Given the description of an element on the screen output the (x, y) to click on. 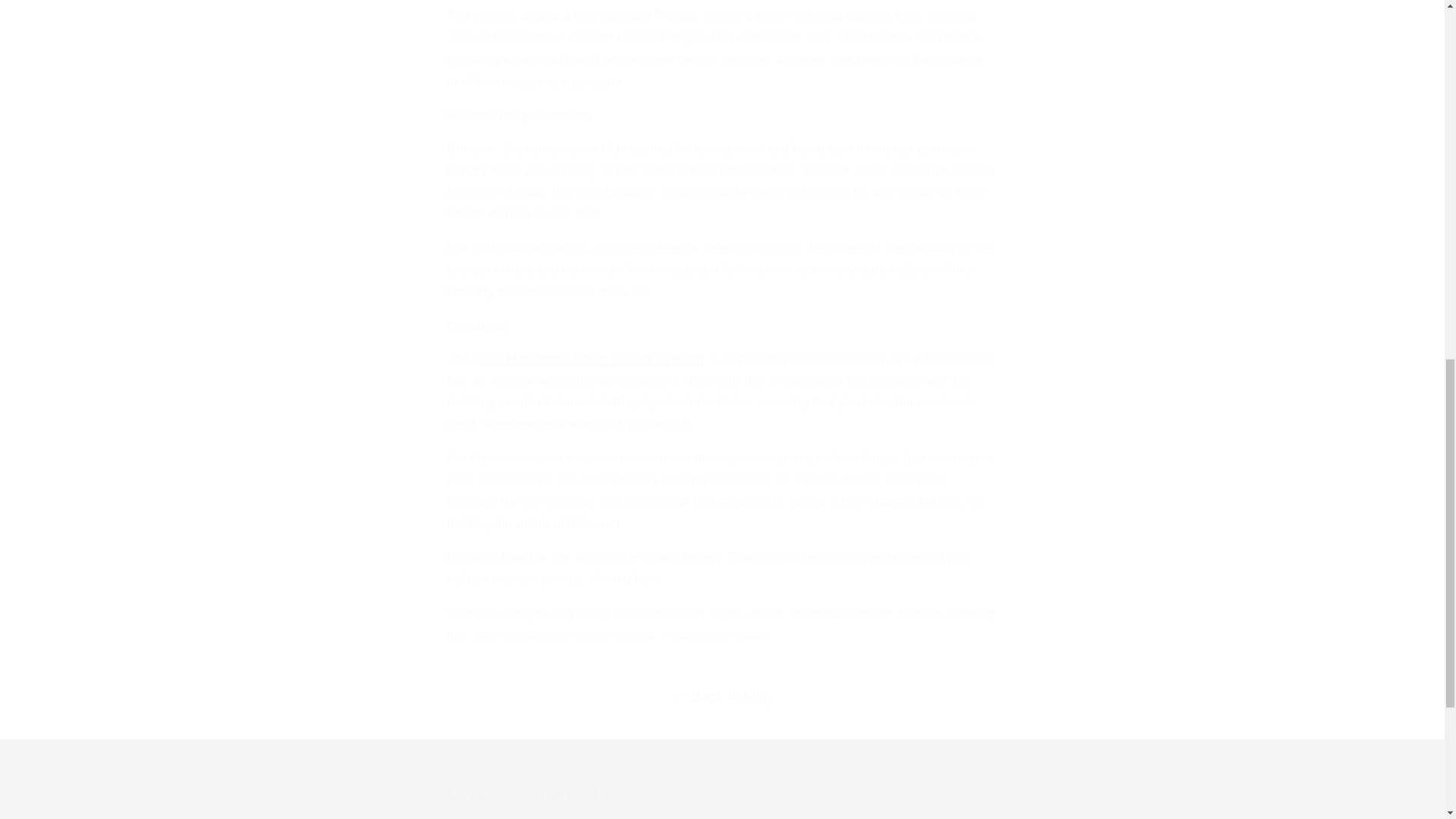
car-motorcycle-battery-charger-12v-24v-smart-charger (590, 358)
